Given the description of an element on the screen output the (x, y) to click on. 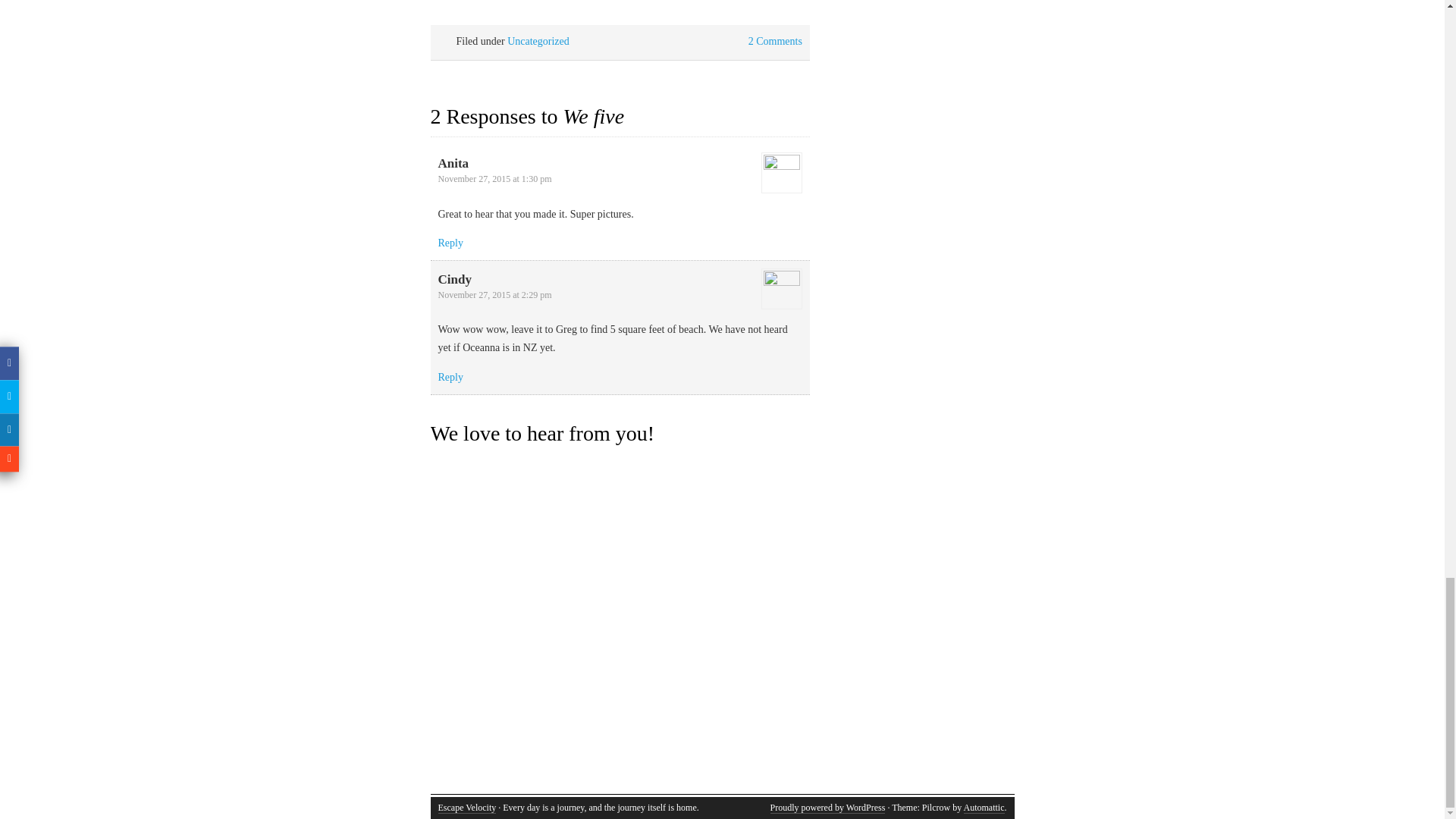
Uncategorized (537, 41)
Reply (450, 242)
November 27, 2015 at 1:30 pm (494, 178)
November 27, 2015 at 2:29 pm (494, 294)
Reply (450, 377)
2 Comments (775, 41)
Comment Form (619, 625)
